Given the description of an element on the screen output the (x, y) to click on. 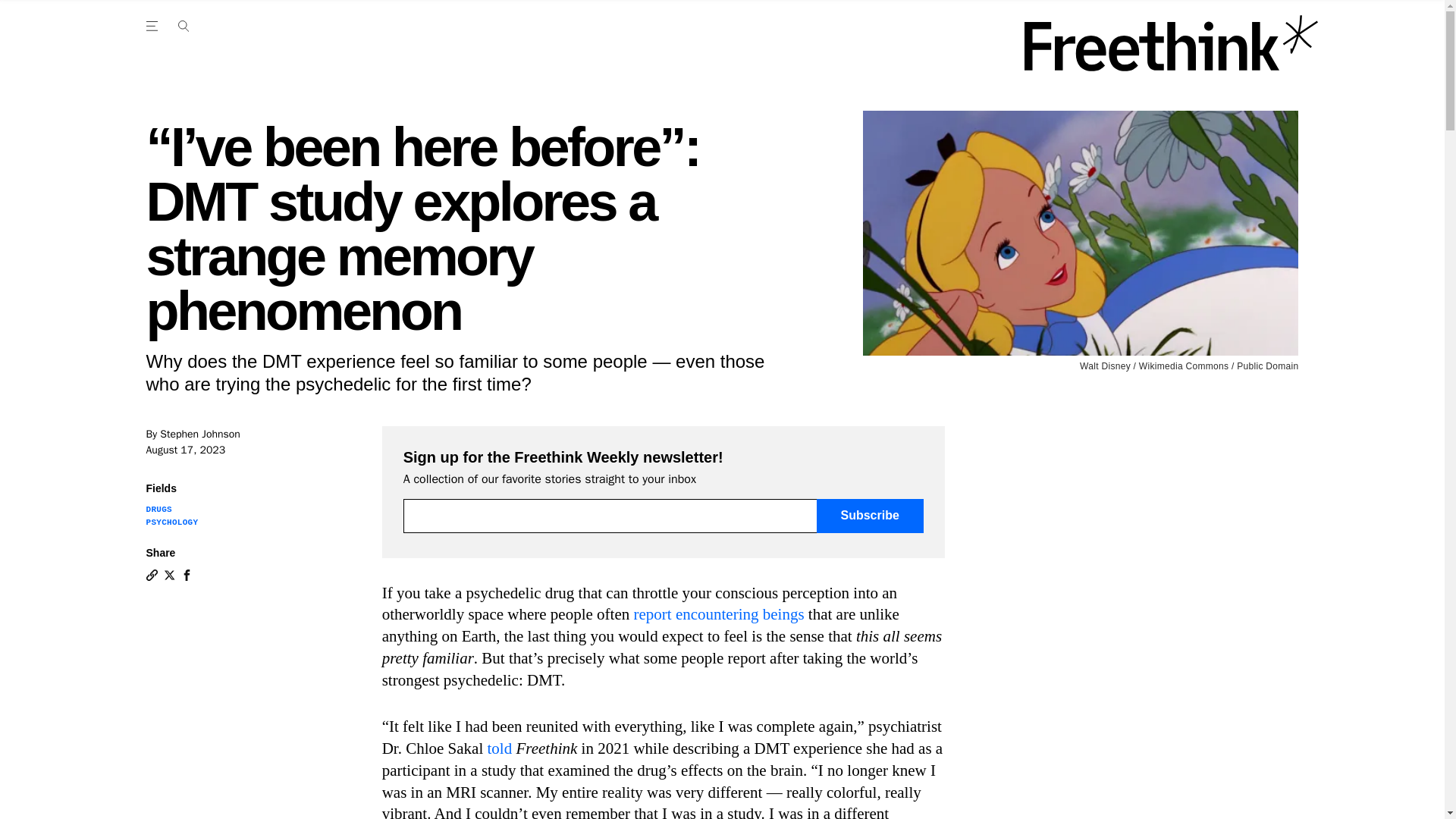
DRUGS (158, 509)
Subscribe (869, 515)
Open the Main Navigation Menu (182, 26)
PSYCHOLOGY (171, 522)
Stephen Johnson (200, 433)
Open the Main Navigation Menu (153, 26)
